Given the description of an element on the screen output the (x, y) to click on. 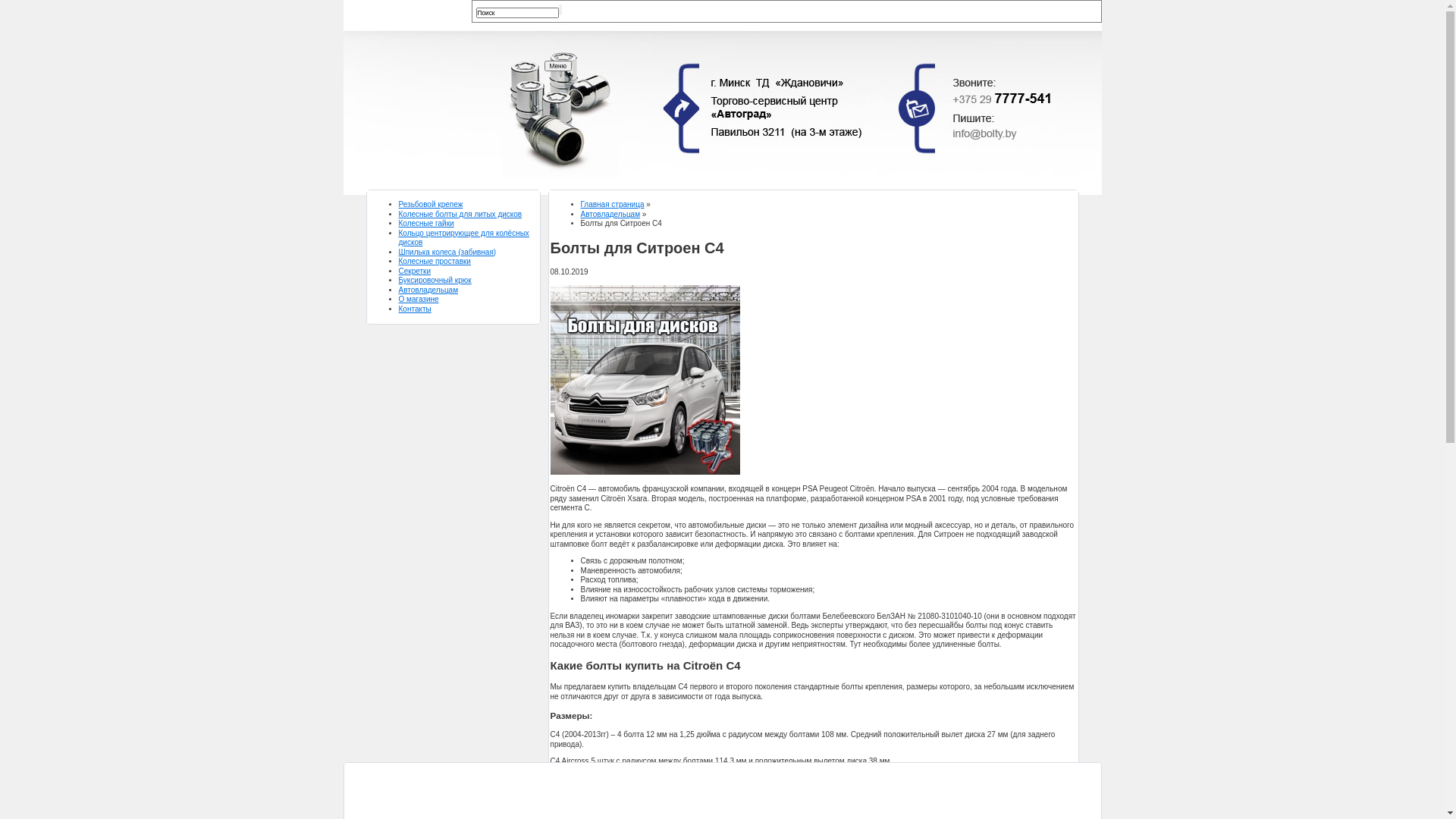
Bolty.by Element type: hover (454, 145)
